Given the description of an element on the screen output the (x, y) to click on. 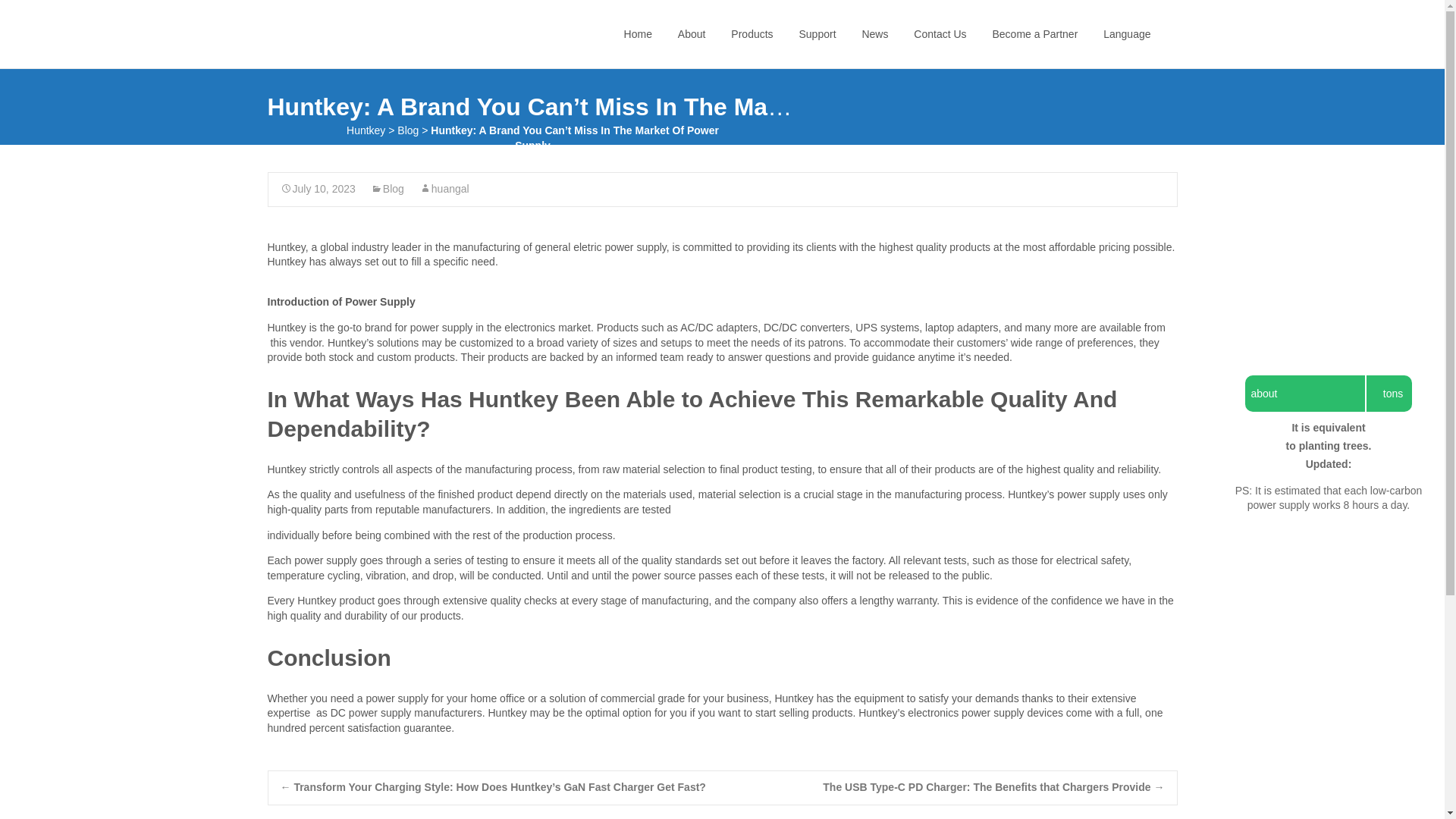
Go to the Blog Category archives. (408, 130)
View all posts by huangal (443, 188)
Go to Huntkey. (365, 130)
Huntkey (338, 30)
